Given the description of an element on the screen output the (x, y) to click on. 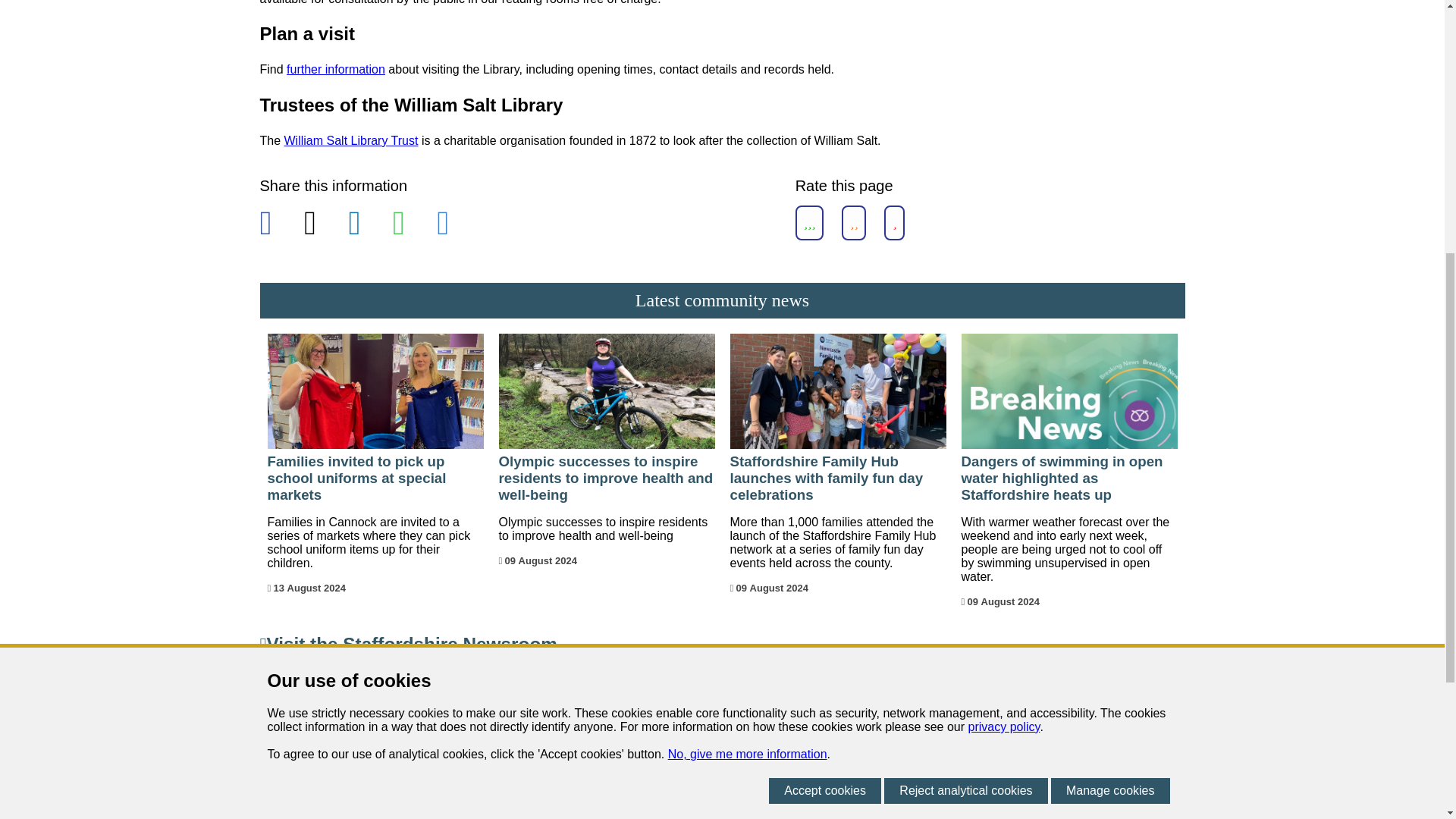
Contact details (335, 69)
 Share on Facebook (275, 223)
Manage cookies (1110, 329)
No, give me more information (747, 292)
 Share on LinkedIn (364, 223)
Reject analytical cookies (964, 329)
Accept cookies (824, 329)
Trustees of the William Salt Library (351, 140)
 Share via Email (453, 223)
 Share on WhatsApp (409, 223)
